Given the description of an element on the screen output the (x, y) to click on. 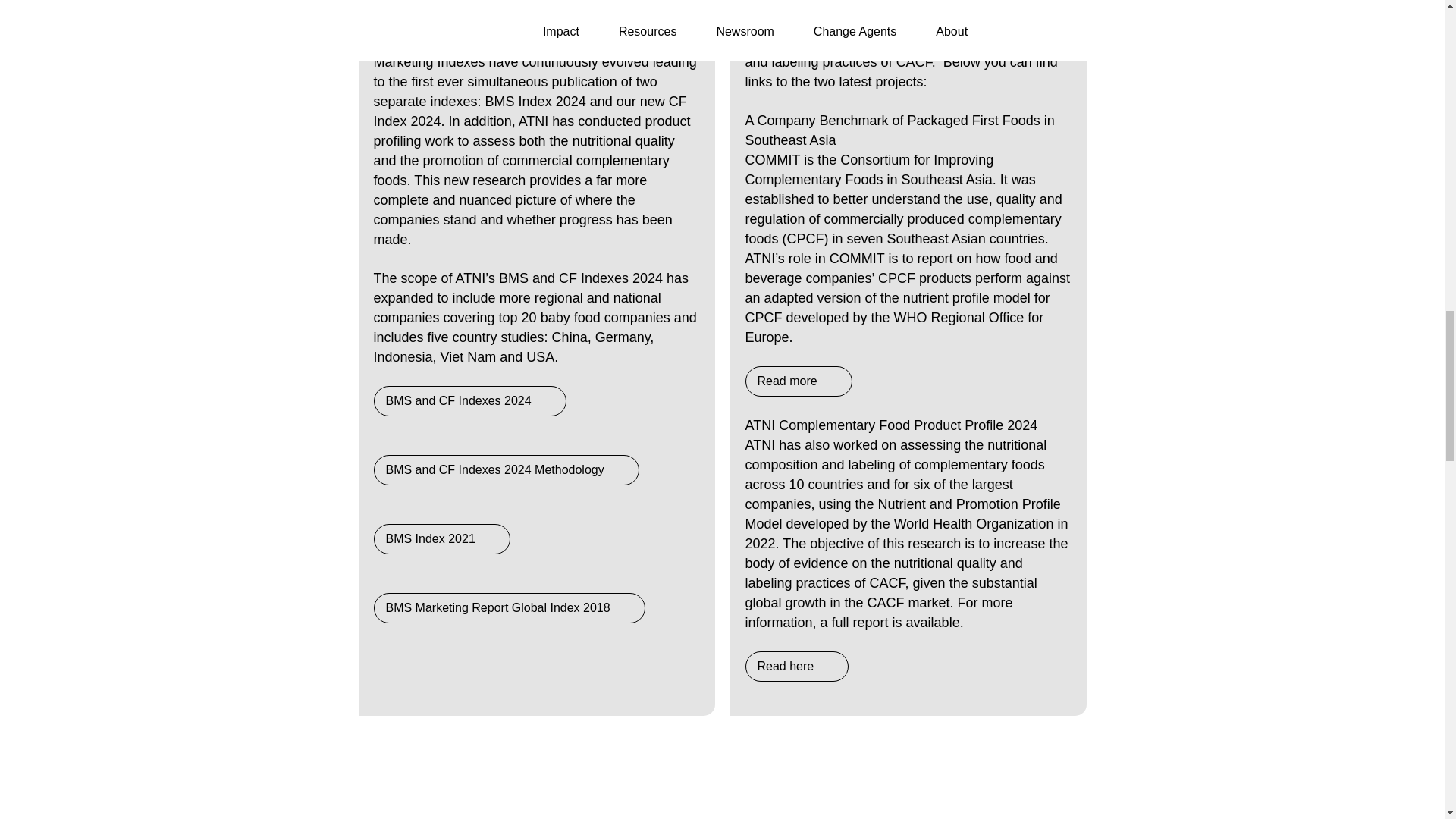
Read more (797, 381)
BMS and CF Indexes 2024 Methodology (505, 470)
BMS Index 2021 (440, 539)
BMS and CF Indexes 2024 (469, 400)
BMS Marketing Report Global Index 2018 (508, 607)
